Given the description of an element on the screen output the (x, y) to click on. 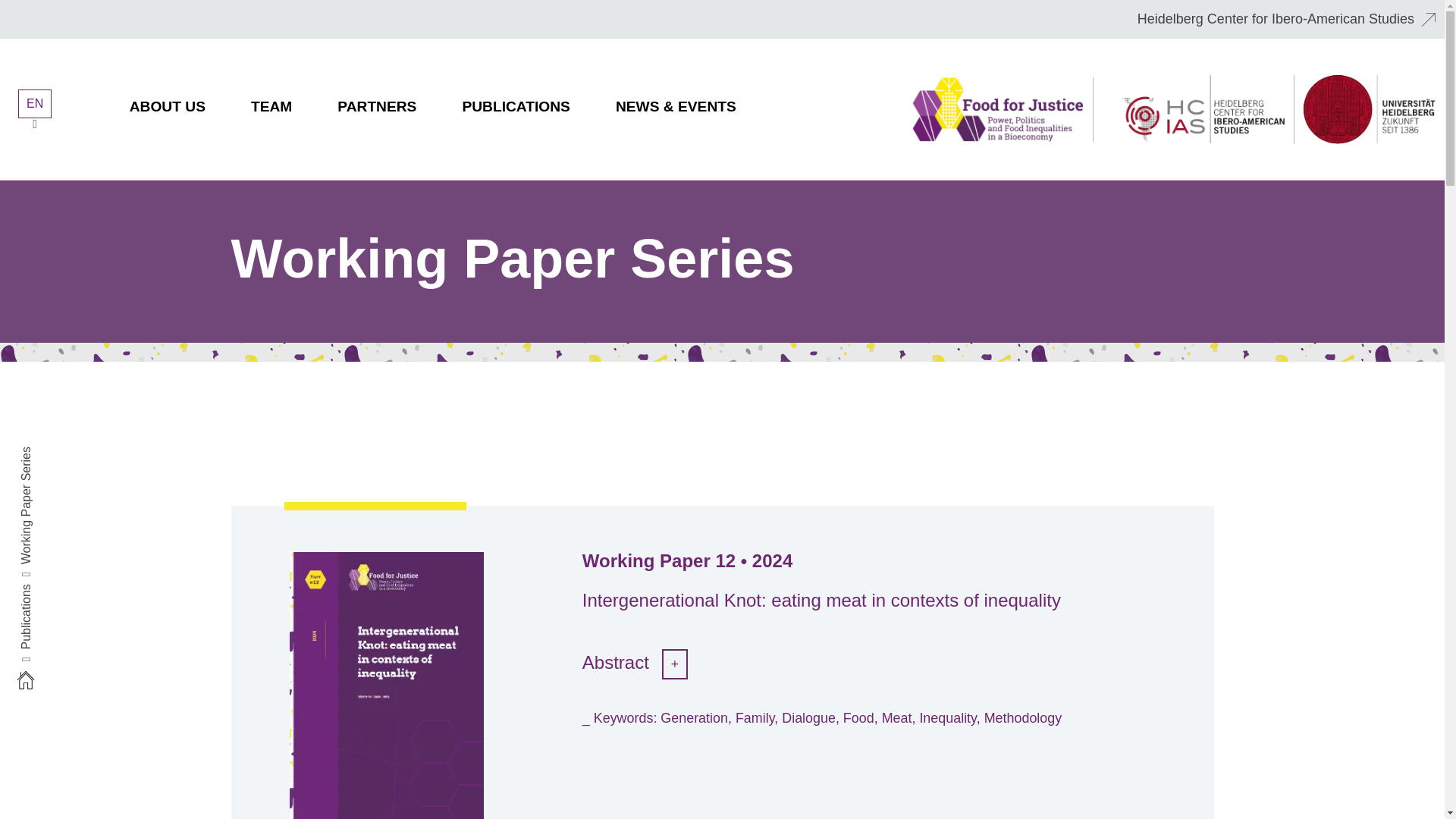
Abstract (634, 661)
Go to Food for Justice. (27, 679)
PARTNERS (376, 109)
PUBLICATIONS (515, 109)
Publications (49, 592)
Heidelberg Center for Ibero-American Studies (1286, 18)
TEAM (271, 109)
Go to Publications. (49, 592)
ABOUT US (167, 109)
